Given the description of an element on the screen output the (x, y) to click on. 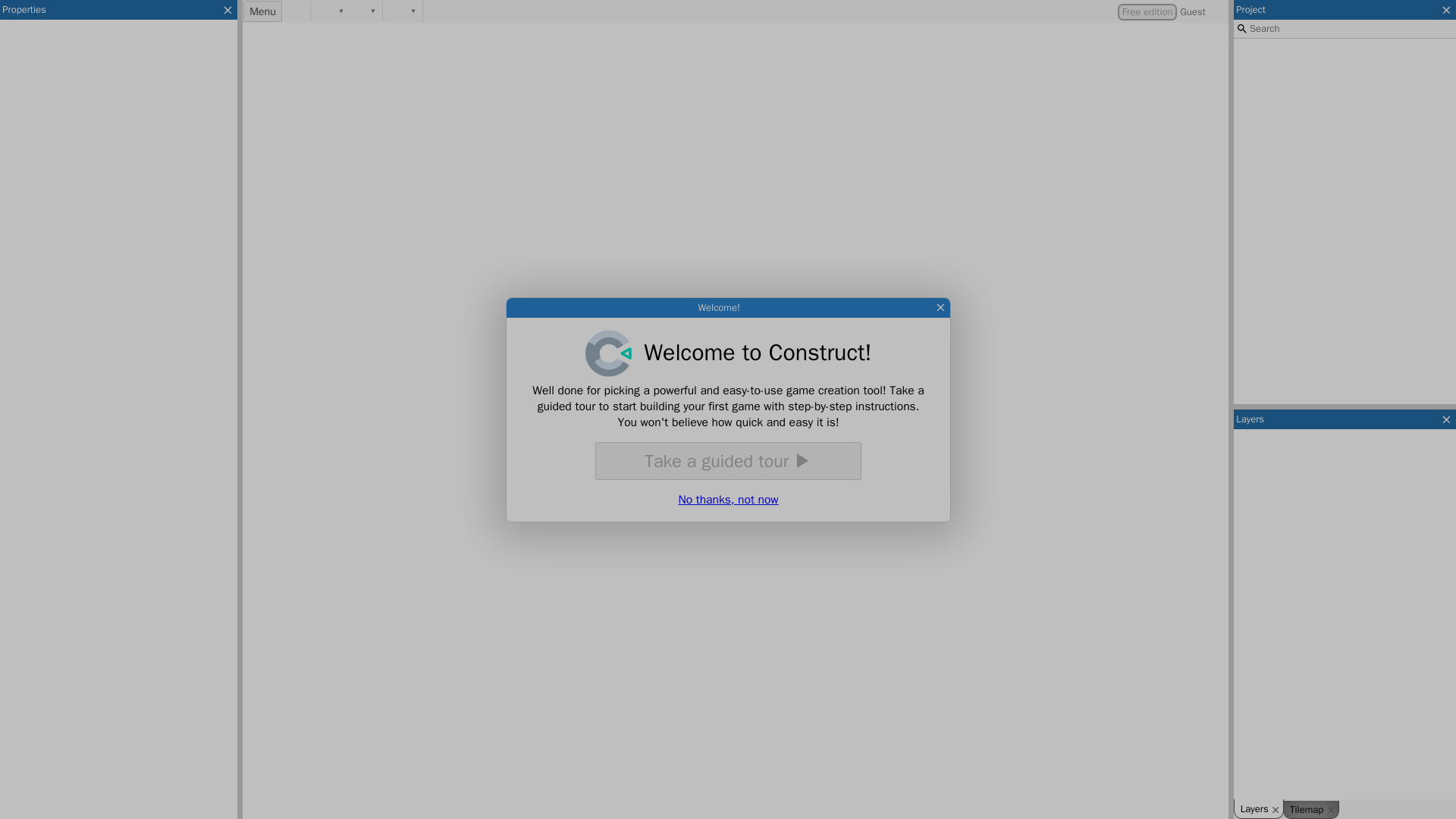
Undo (325, 11)
Close (940, 307)
Close (227, 9)
Click to open the main menu. (262, 11)
Redo (357, 11)
No thanks, not now (727, 499)
Preview layout (398, 11)
Save project (295, 11)
User account (1171, 12)
